Given the description of an element on the screen output the (x, y) to click on. 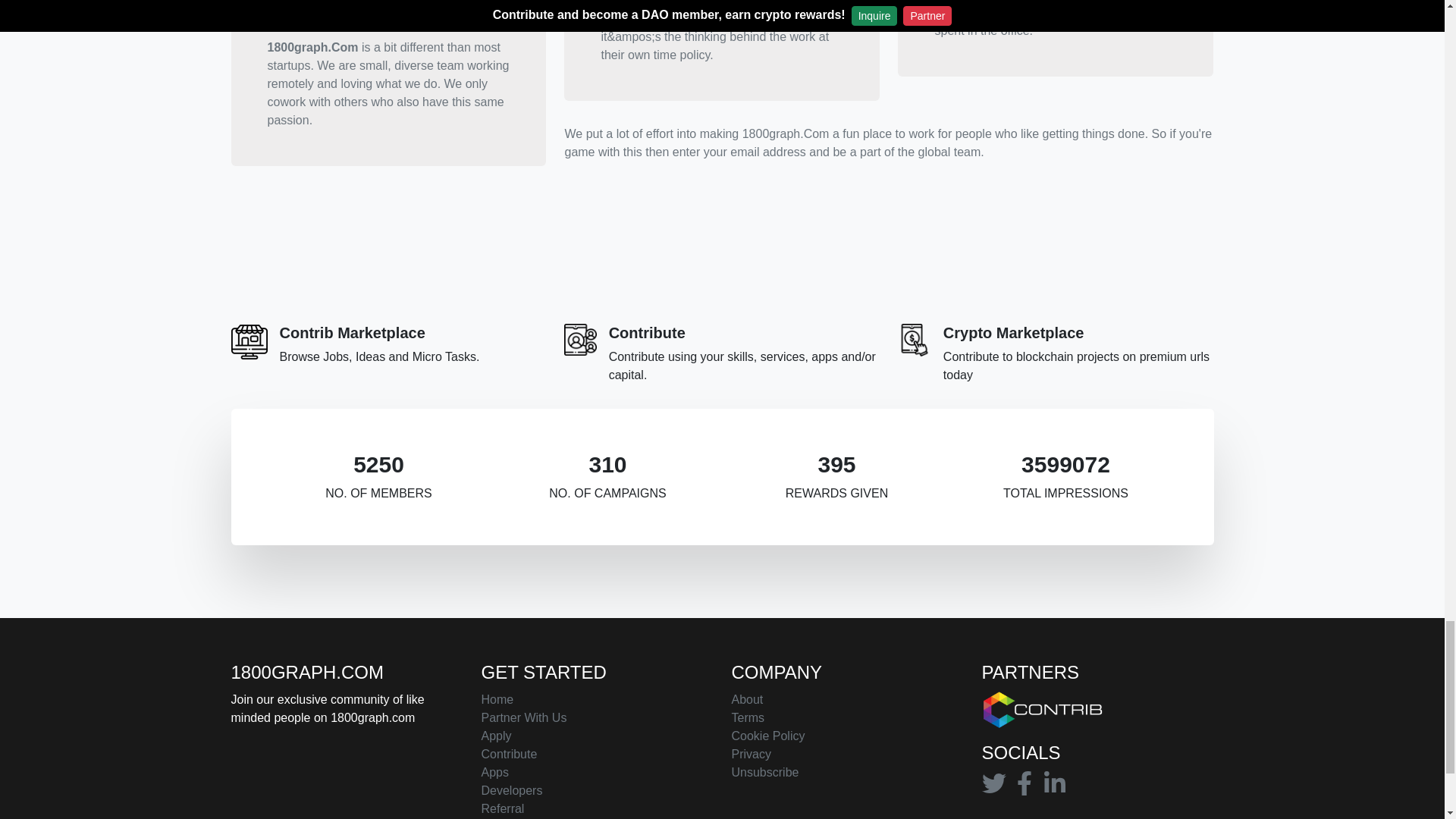
Home (496, 700)
Unsubscribe (763, 772)
Contribute (508, 754)
About (746, 700)
Privacy (750, 754)
Developers (510, 791)
Cookie Policy (767, 736)
Apps (494, 772)
Referral (502, 809)
Partner With Us (523, 718)
Terms (747, 718)
Apply (495, 736)
